Given the description of an element on the screen output the (x, y) to click on. 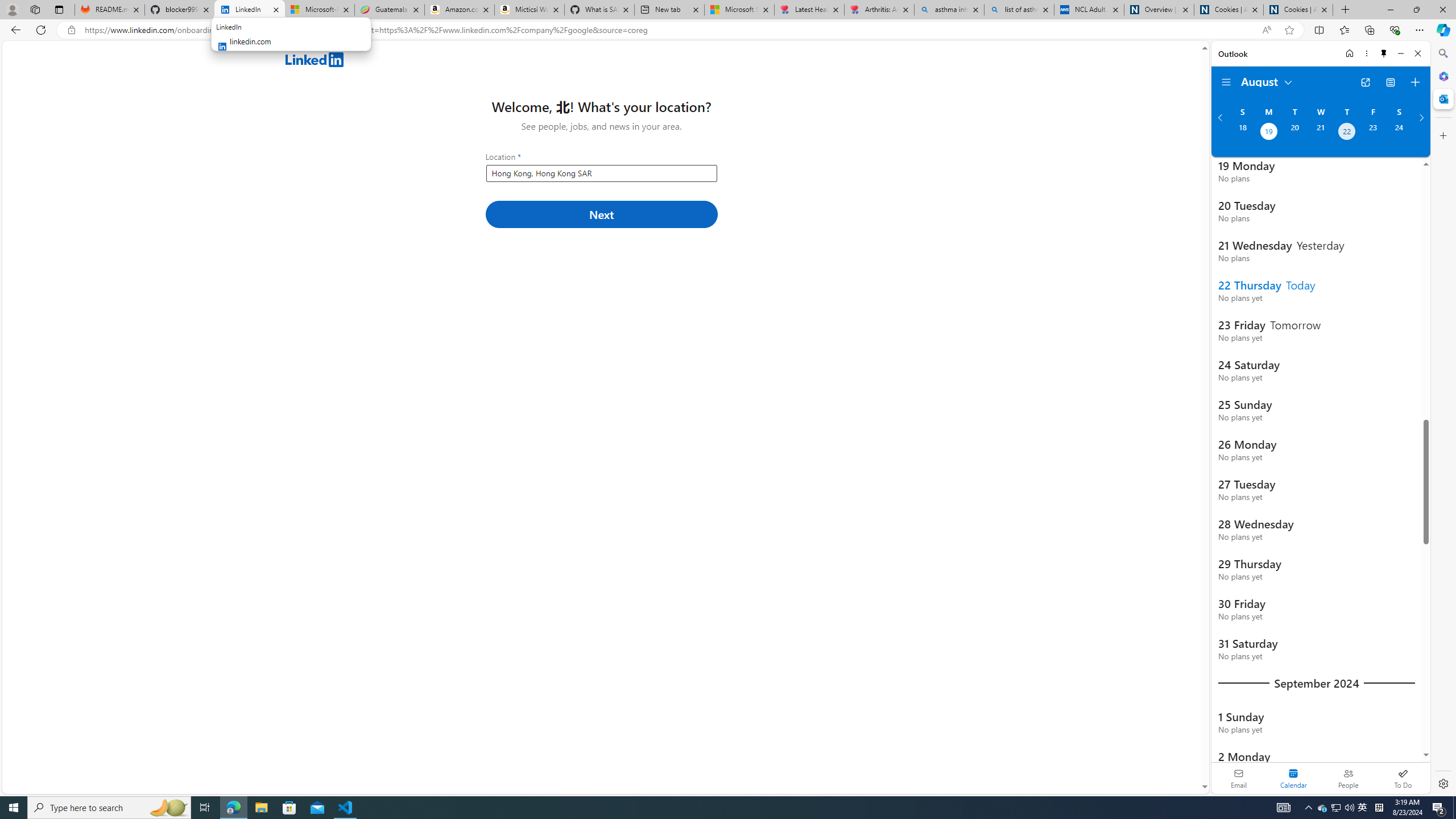
People (1347, 777)
Thursday, August 22, 2024. Today.  (1346, 132)
